Given the description of an element on the screen output the (x, y) to click on. 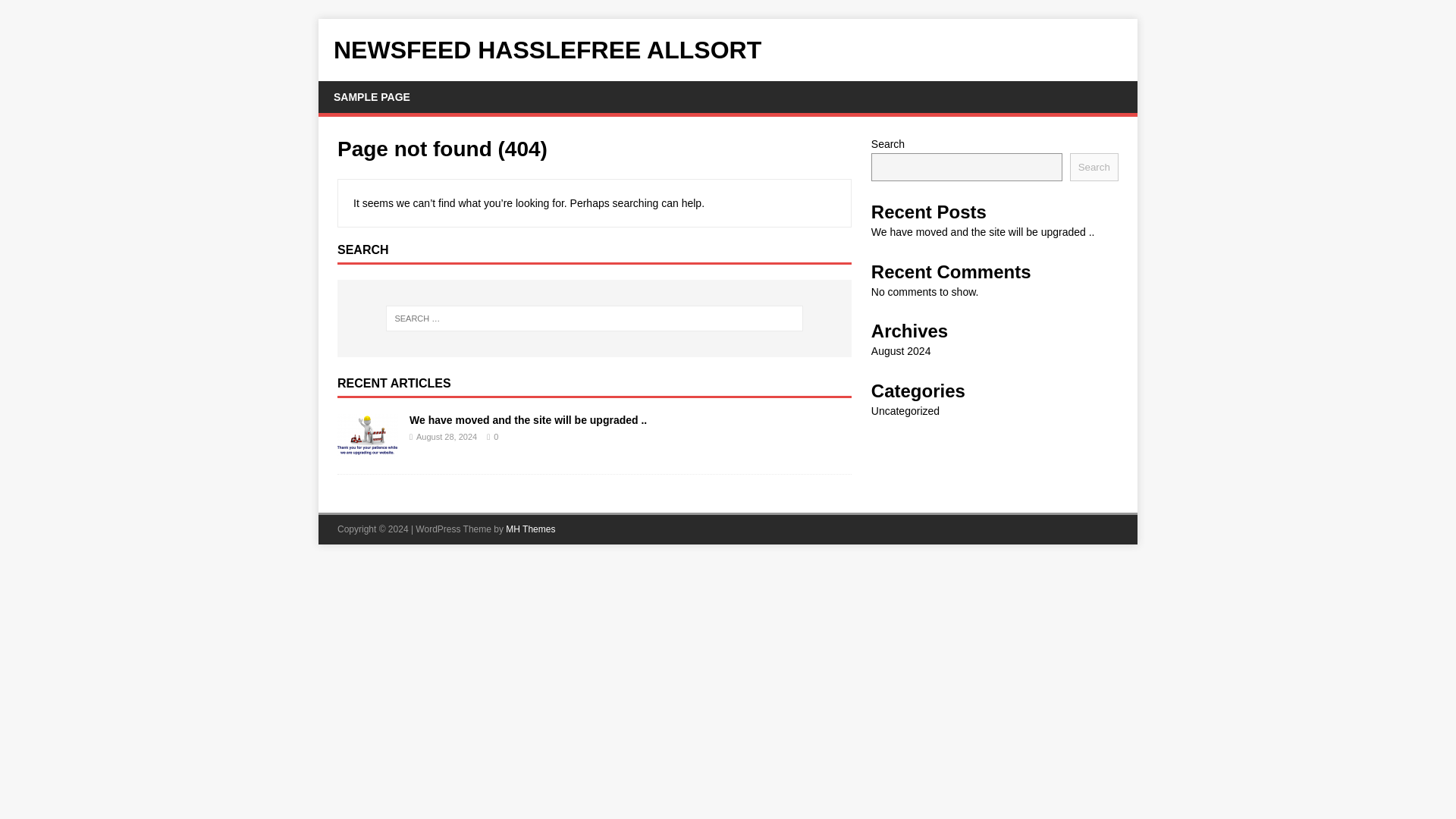
Newsfeed Hasslefree Allsort (727, 49)
Search (1094, 166)
We have moved and the site will be upgraded .. (527, 419)
Search (56, 11)
August 2024 (900, 350)
We have moved and the site will be upgraded .. (367, 449)
We have moved and the site will be upgraded .. (527, 419)
Uncategorized (904, 410)
We have moved and the site will be upgraded .. (982, 232)
NEWSFEED HASSLEFREE ALLSORT (727, 49)
